Given the description of an element on the screen output the (x, y) to click on. 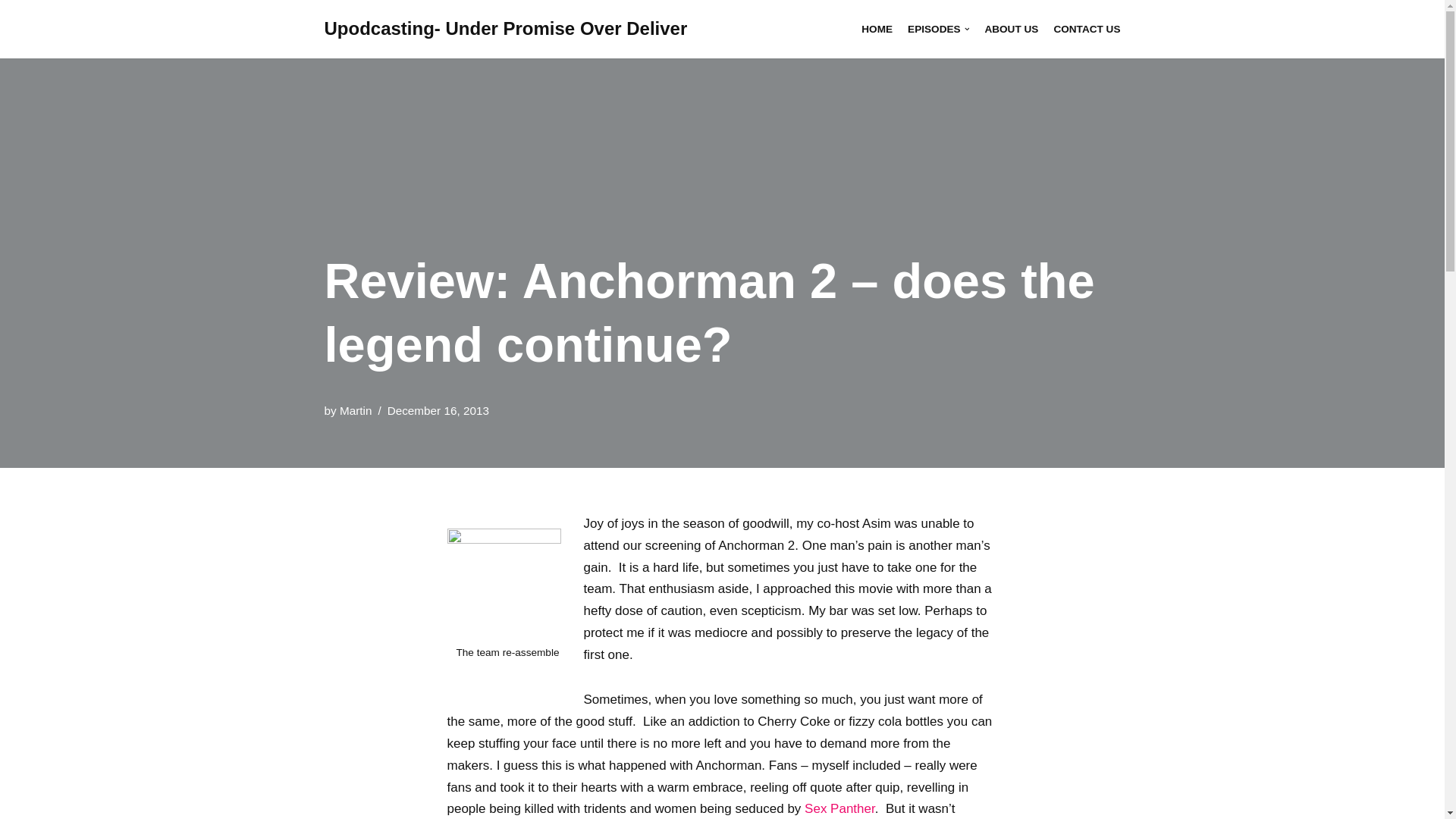
Sex Panther (840, 808)
image010 (503, 585)
Martin (355, 410)
Upodcasting- Under Promise Over Deliver (505, 29)
HOME (876, 28)
ABOUT US (1011, 28)
Upodcasting- Under Promise Over Deliver (505, 29)
Skip to content (11, 31)
Posts by Martin (355, 410)
Anchorman: The Legend of Ron Burgundy (840, 808)
EPISODES (938, 28)
CONTACT US (1085, 28)
